Given the description of an element on the screen output the (x, y) to click on. 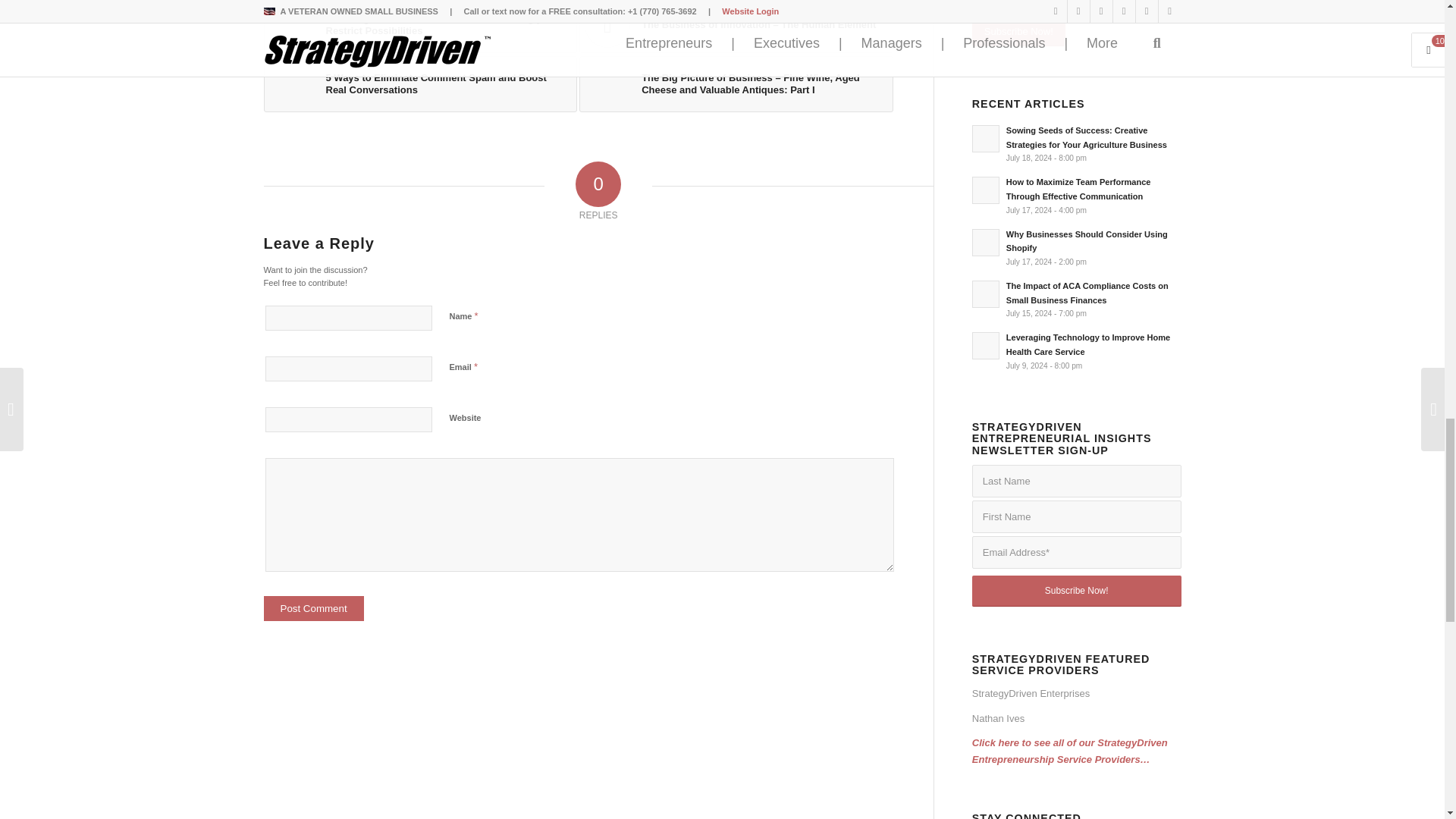
Post Comment (313, 608)
Subscribe Now! (1076, 590)
